Given the description of an element on the screen output the (x, y) to click on. 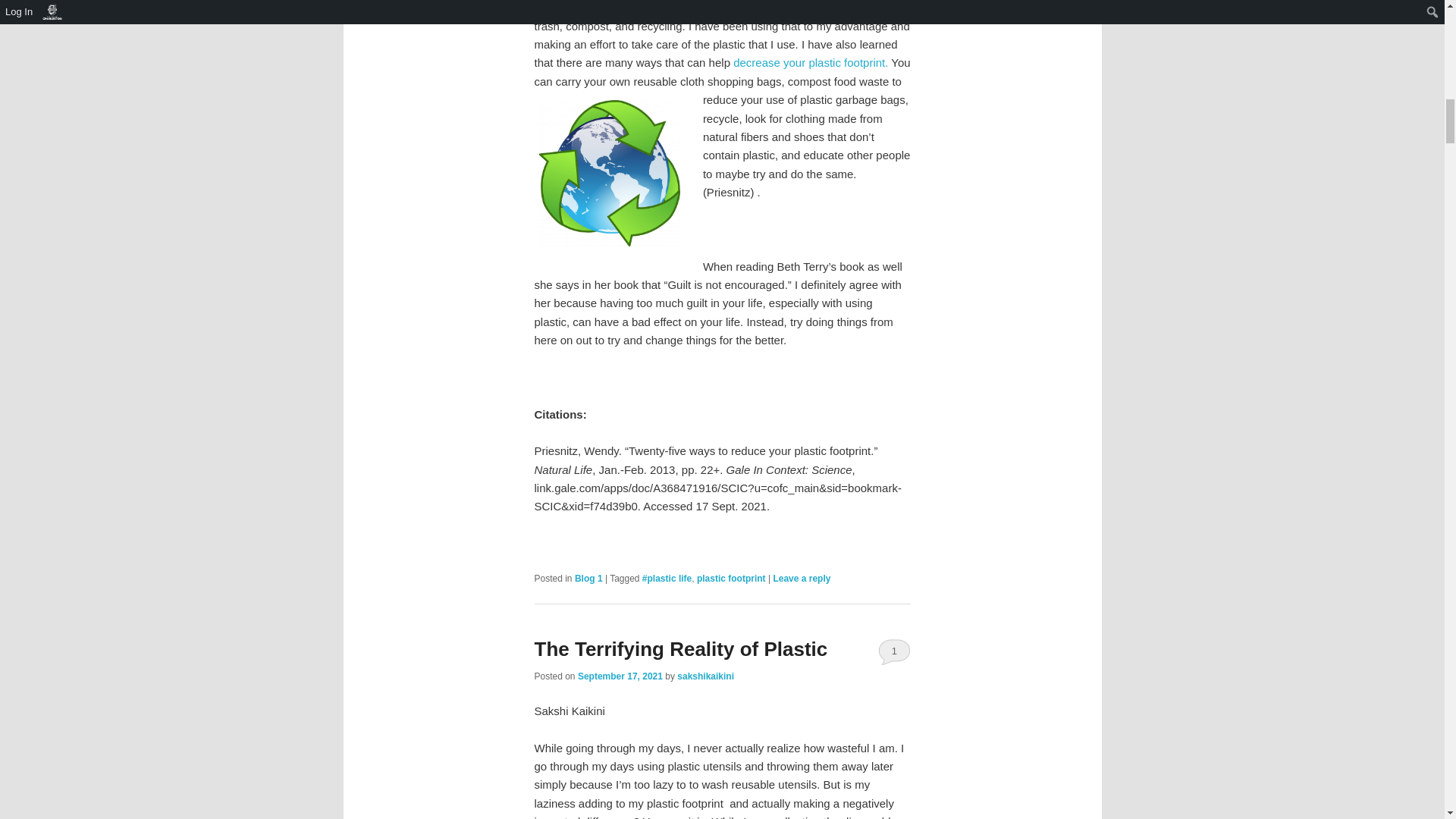
1 (894, 651)
decrease your plastic footprint. (810, 62)
Permalink to The Terrifying Reality of Plastic (680, 649)
Leave a reply (801, 578)
plastic footprint (731, 578)
September 17, 2021 (620, 675)
Blog 1 (588, 578)
11:01 pm (620, 675)
sakshikaikini (705, 675)
The Terrifying Reality of Plastic (680, 649)
